Given the description of an element on the screen output the (x, y) to click on. 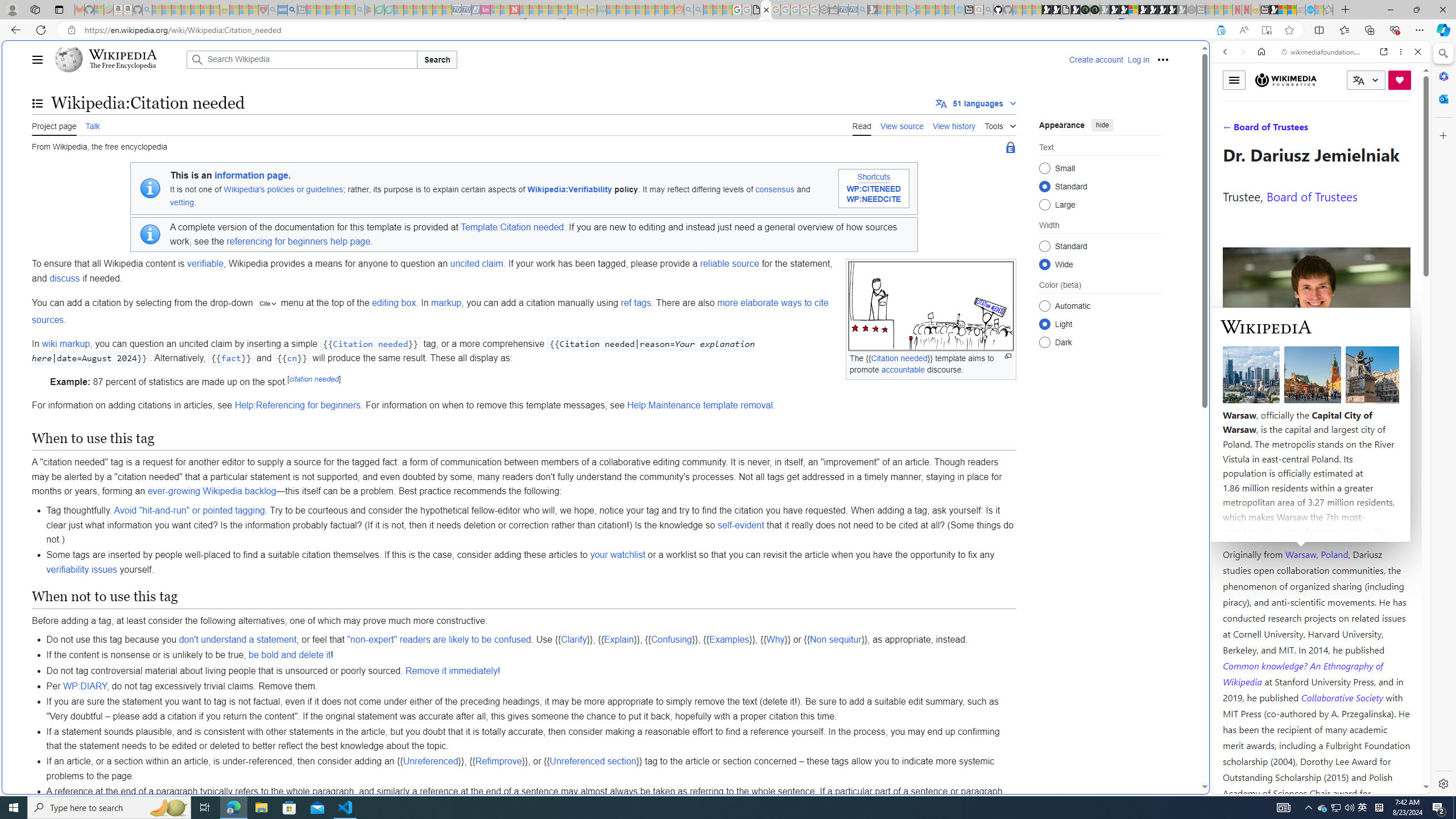
Profile on Meta-Wiki (1273, 405)
Wiktionary (1315, 380)
Donate now (1399, 80)
Large (1044, 204)
Tools (1000, 124)
be bold and delete it (289, 655)
